Given the description of an element on the screen output the (x, y) to click on. 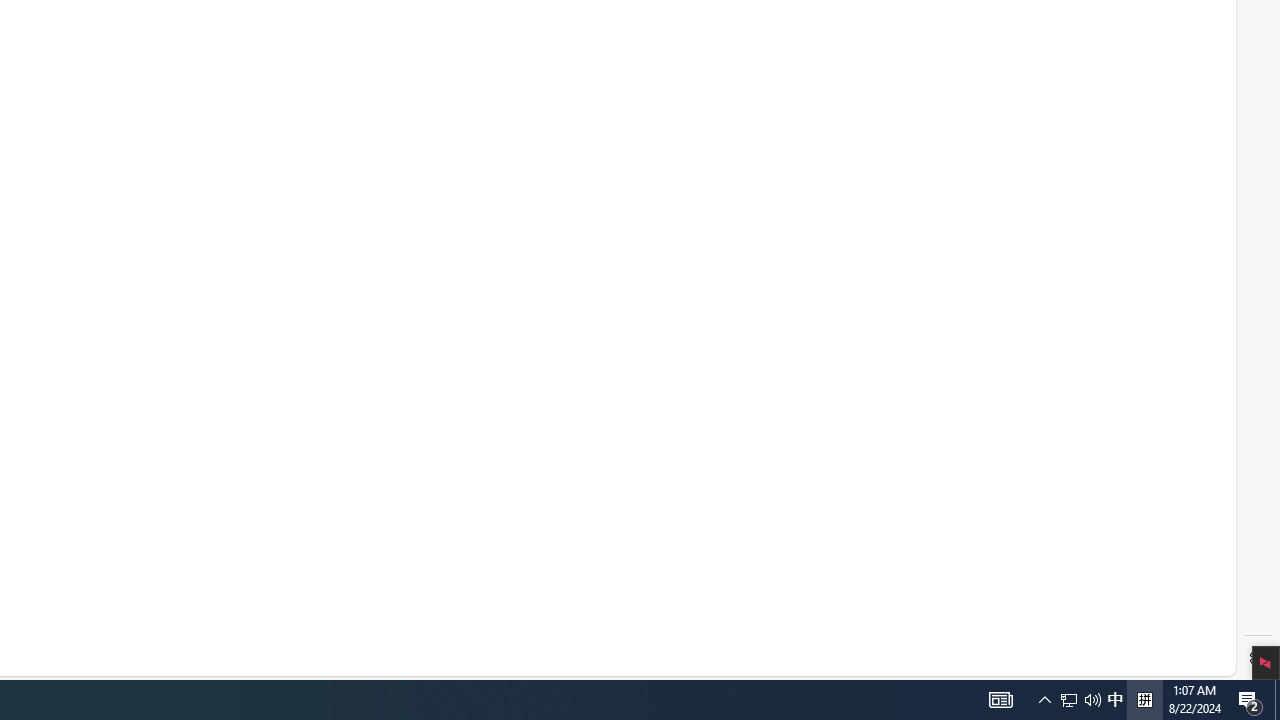
Settings (1258, 658)
